Given the description of an element on the screen output the (x, y) to click on. 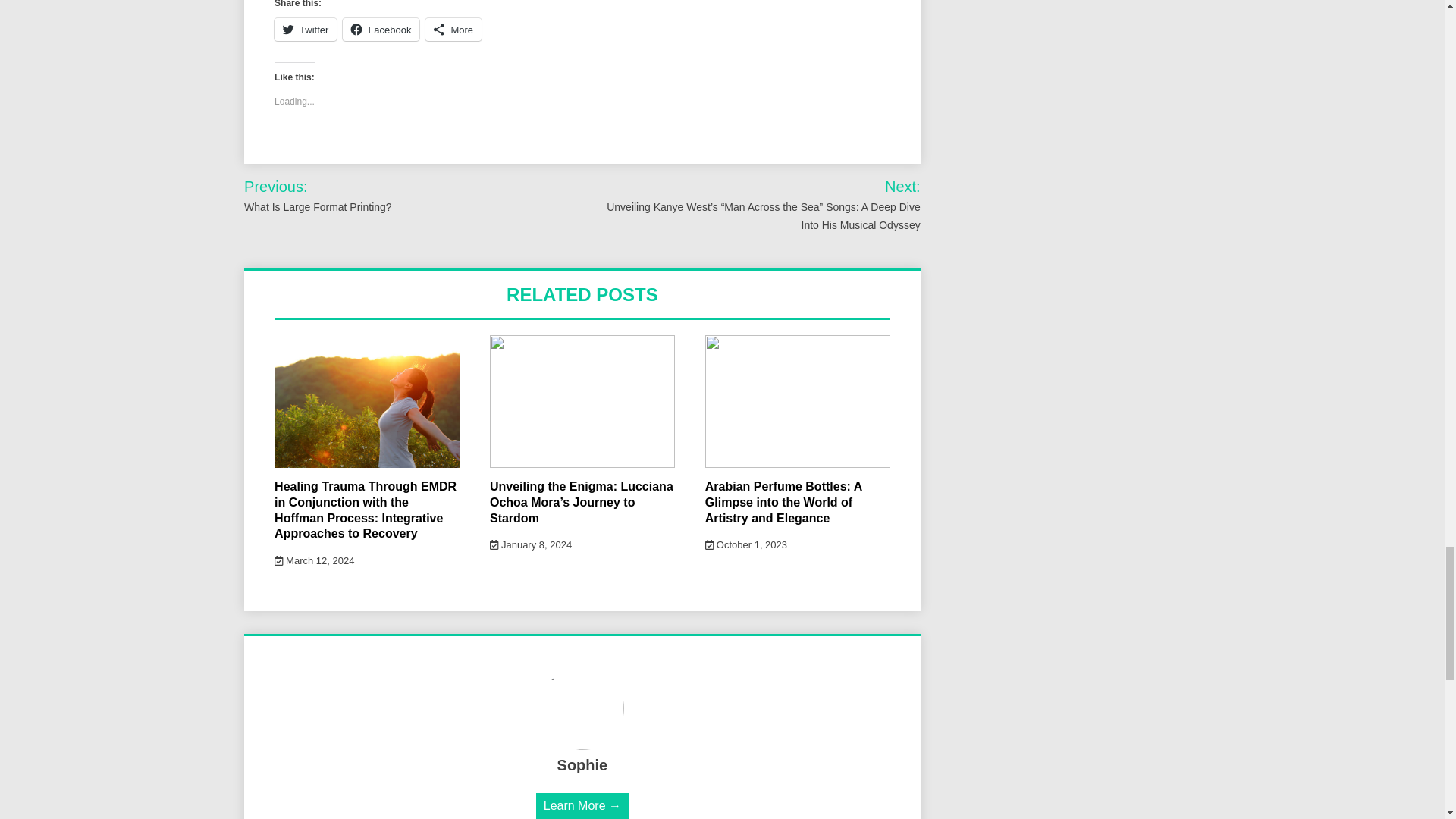
Click to share on Facebook (380, 29)
Click to share on Twitter (305, 29)
